Given the description of an element on the screen output the (x, y) to click on. 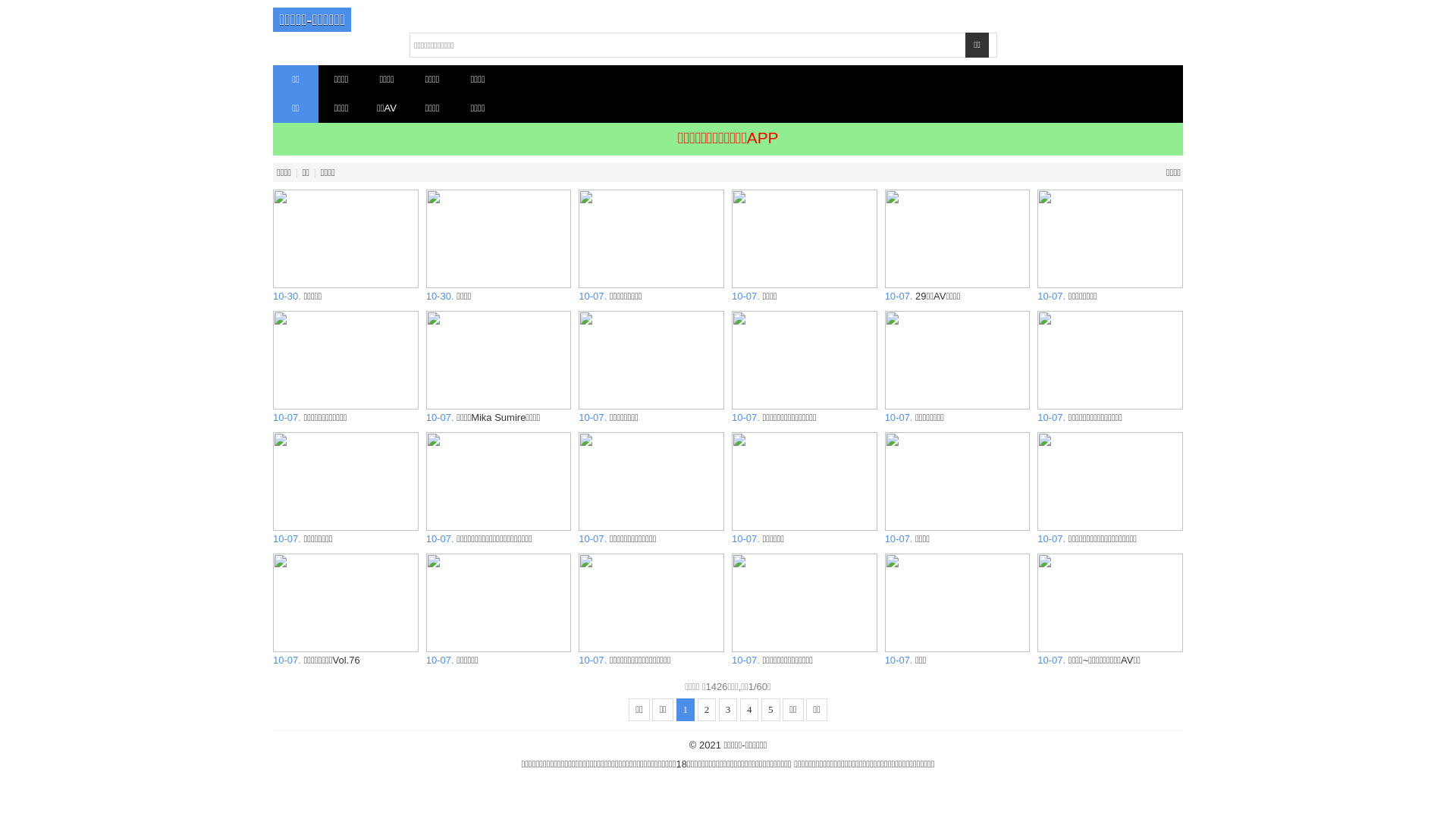
4 Element type: text (749, 709)
1 Element type: text (685, 709)
3 Element type: text (727, 709)
2 Element type: text (706, 709)
5 Element type: text (770, 709)
